Given the description of an element on the screen output the (x, y) to click on. 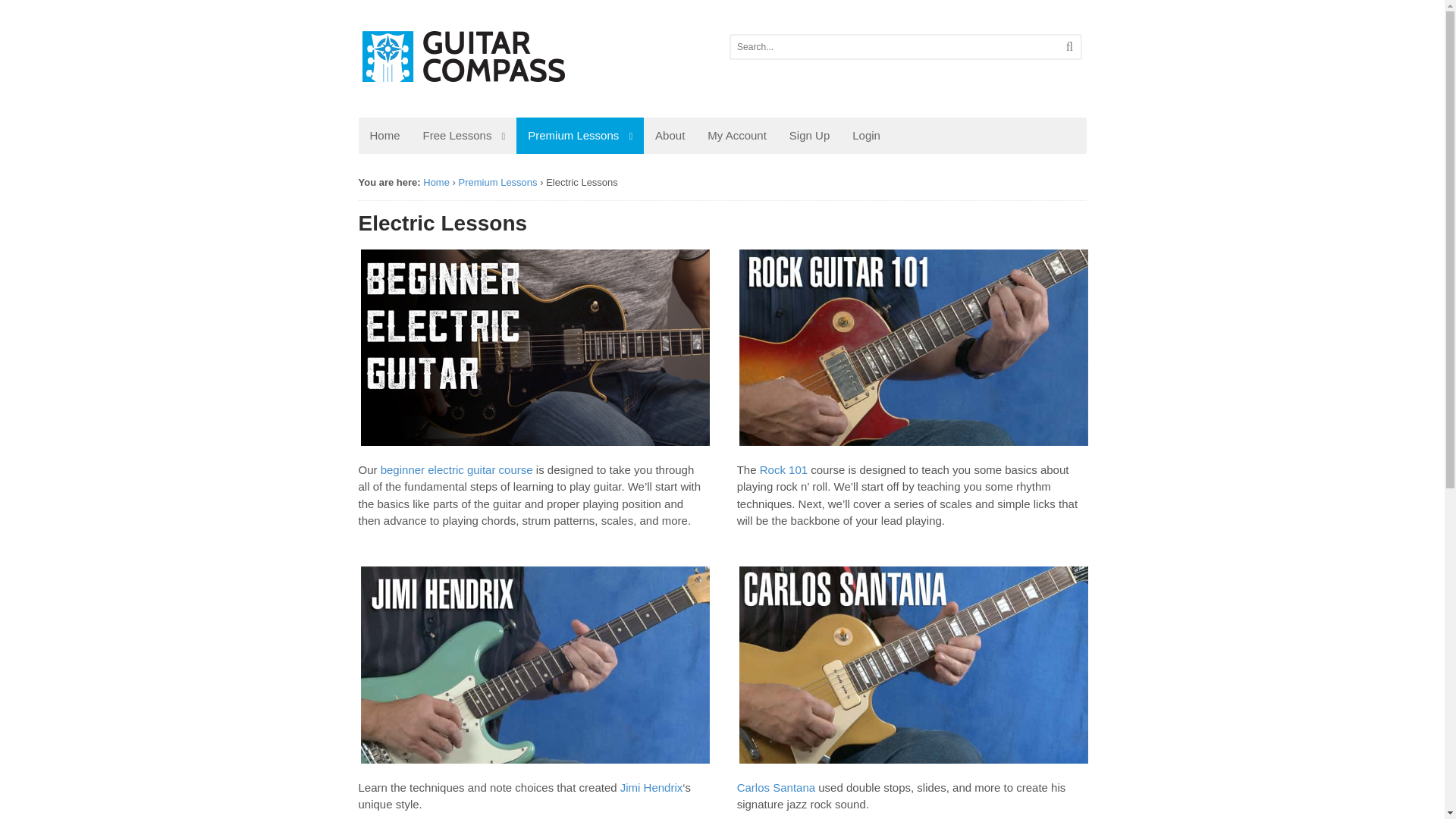
Premium Lessons (497, 182)
Jimi Hendrix (651, 787)
About (669, 135)
Login (866, 135)
Home (384, 135)
Premium Lessons (579, 135)
Home (436, 182)
Guitar Compass (436, 182)
Learn How to Actually Play Guitar (462, 75)
Guitar Compass (475, 98)
Search... (885, 47)
My Account (736, 135)
beginner electric guitar course (456, 469)
Rock 101 (784, 469)
Free Lessons (464, 135)
